Given the description of an element on the screen output the (x, y) to click on. 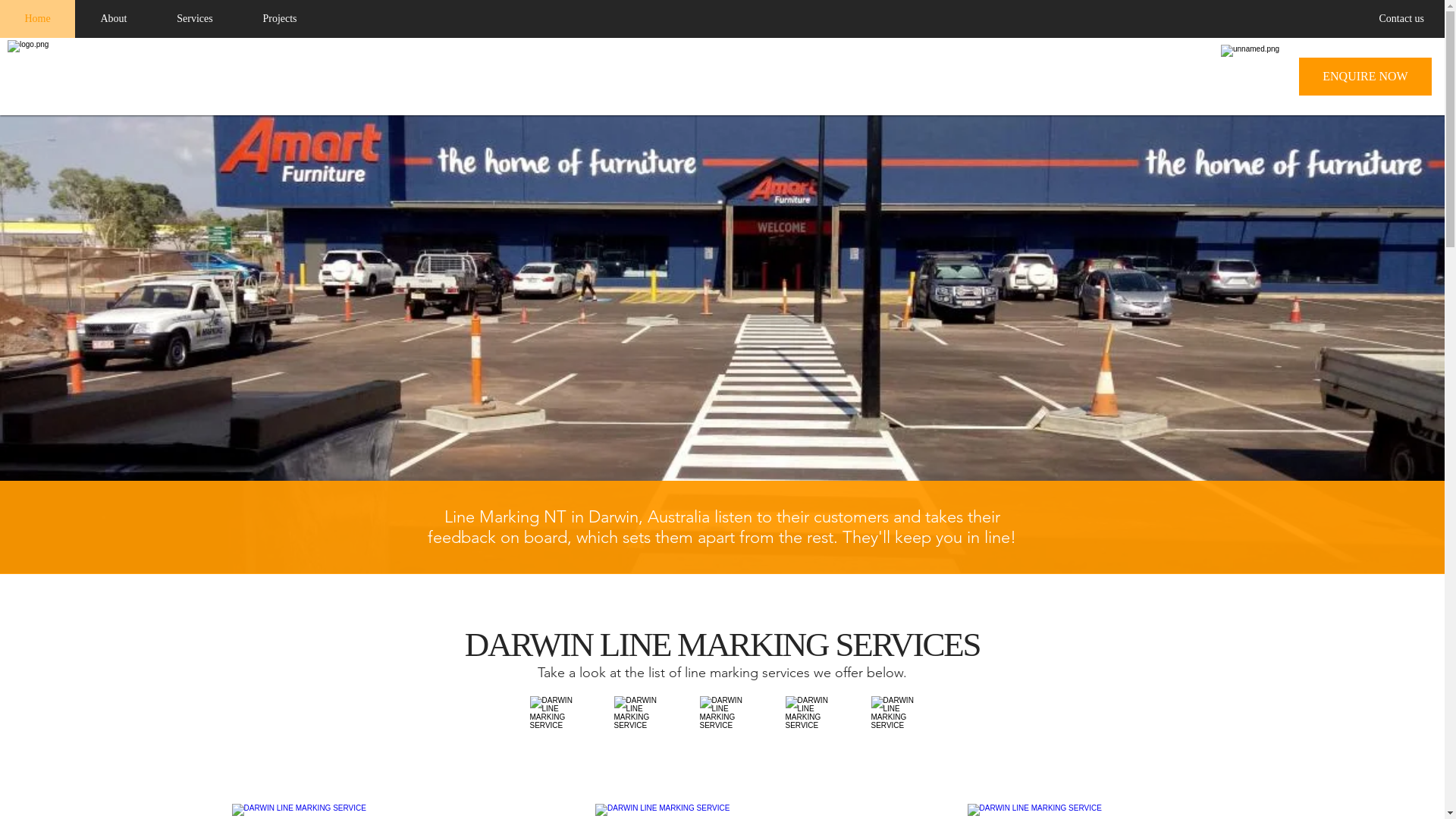
Home Element type: text (37, 18)
About Element type: text (113, 18)
Projects Element type: text (279, 18)
ENQUIRE NOW Element type: text (1365, 76)
Contact us Element type: text (1401, 18)
Services Element type: text (194, 18)
